Given the description of an element on the screen output the (x, y) to click on. 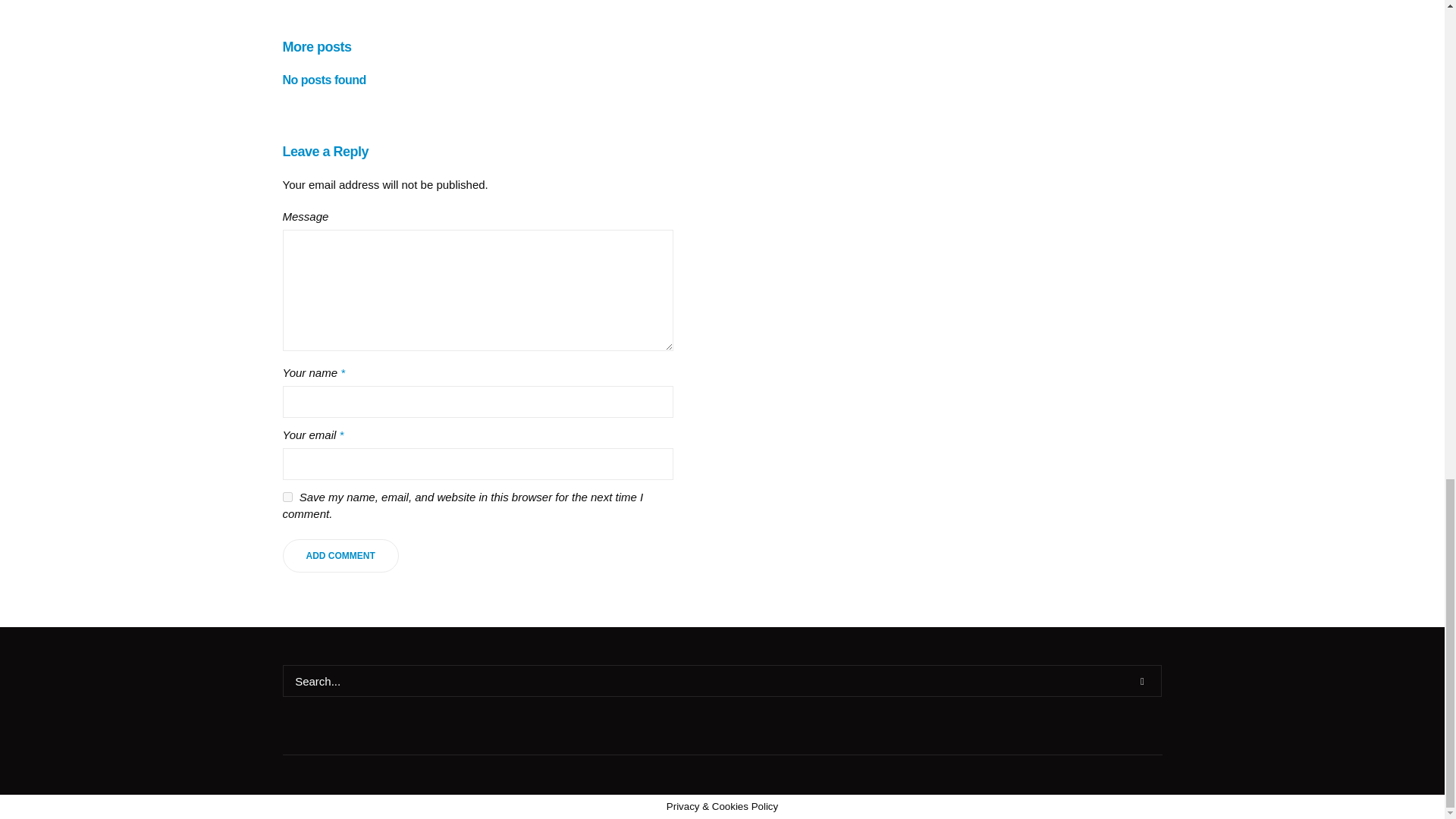
yes (287, 497)
Add Comment (339, 555)
